Given the description of an element on the screen output the (x, y) to click on. 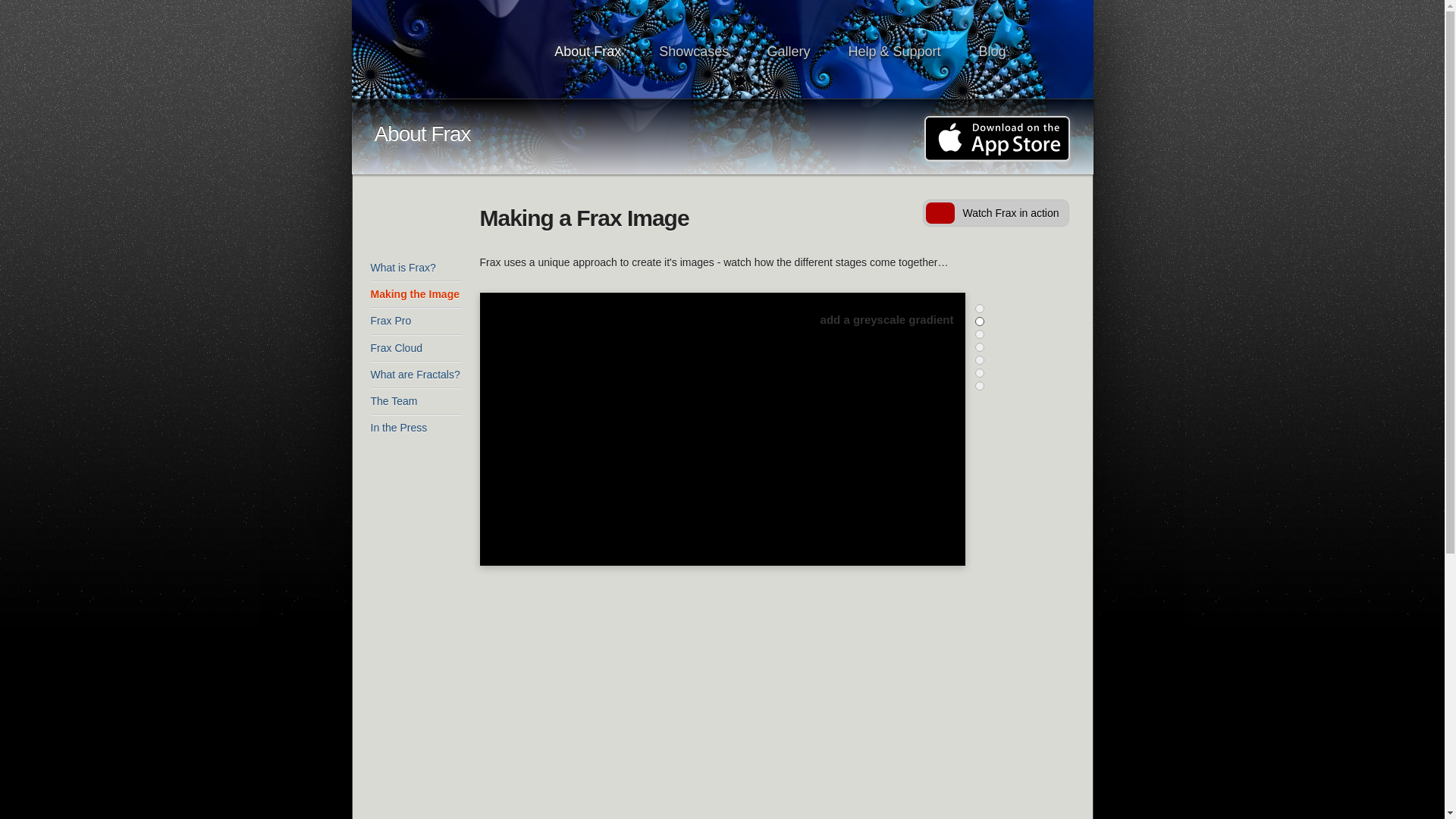
Blog Element type: text (991, 51)
1 Element type: text (979, 308)
What is Frax? Element type: text (415, 267)
3 Element type: text (979, 333)
The Team Element type: text (415, 401)
Watch Frax in action Element type: text (995, 212)
About Frax Element type: text (587, 51)
Frax Pro Element type: text (415, 320)
Gallery Element type: text (787, 51)
7 Element type: text (979, 385)
4 Element type: text (979, 346)
Frax Cloud Element type: text (415, 347)
What are Fractals? Element type: text (415, 374)
2 Element type: text (979, 321)
In the Press Element type: text (415, 427)
Frax Element type: text (456, 49)
Showcases Element type: text (693, 51)
Help & Support Element type: text (893, 51)
5 Element type: text (979, 359)
6 Element type: text (979, 372)
Download on the App Store Element type: hover (996, 138)
